Given the description of an element on the screen output the (x, y) to click on. 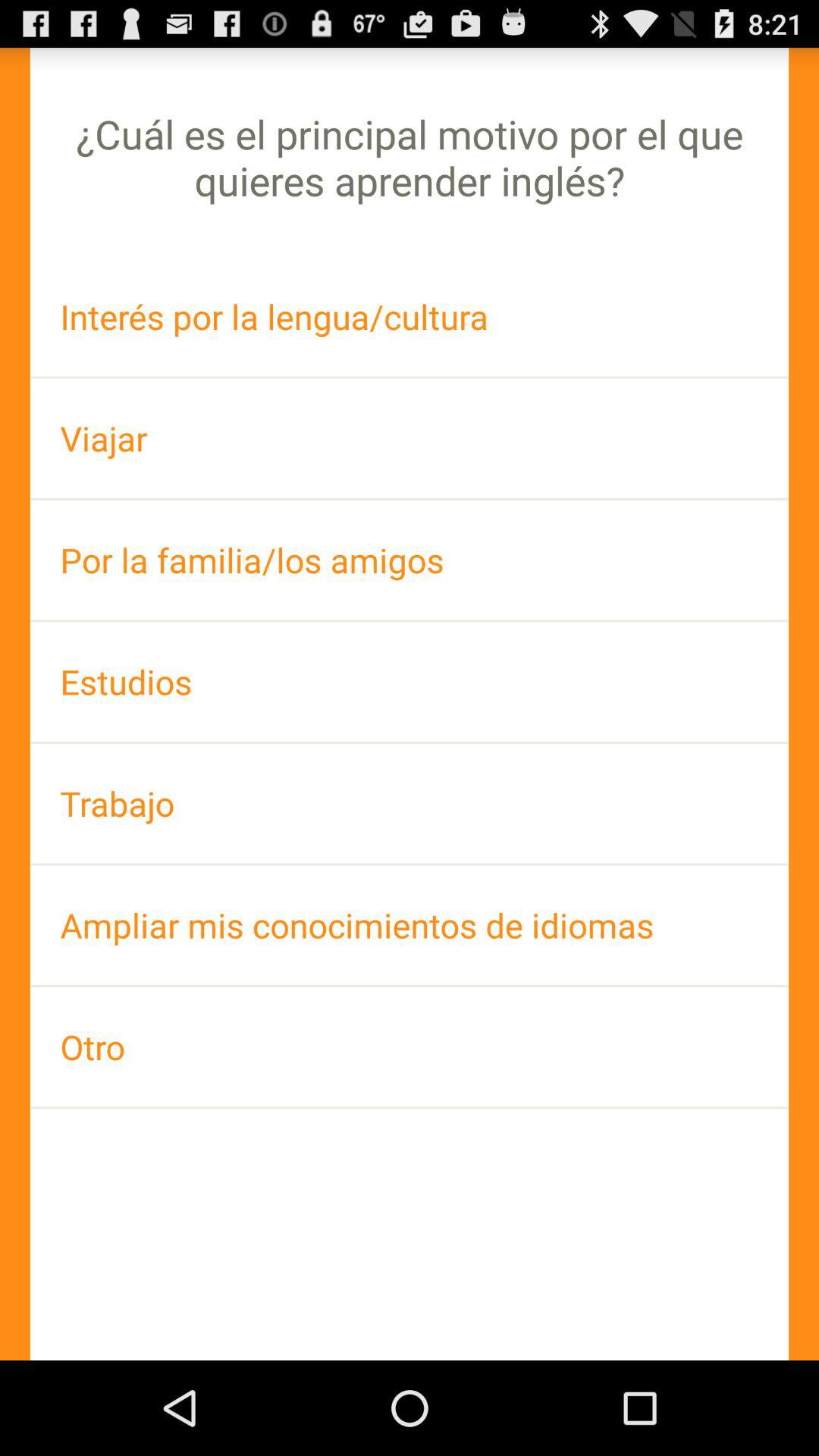
launch icon below the trabajo app (409, 925)
